Given the description of an element on the screen output the (x, y) to click on. 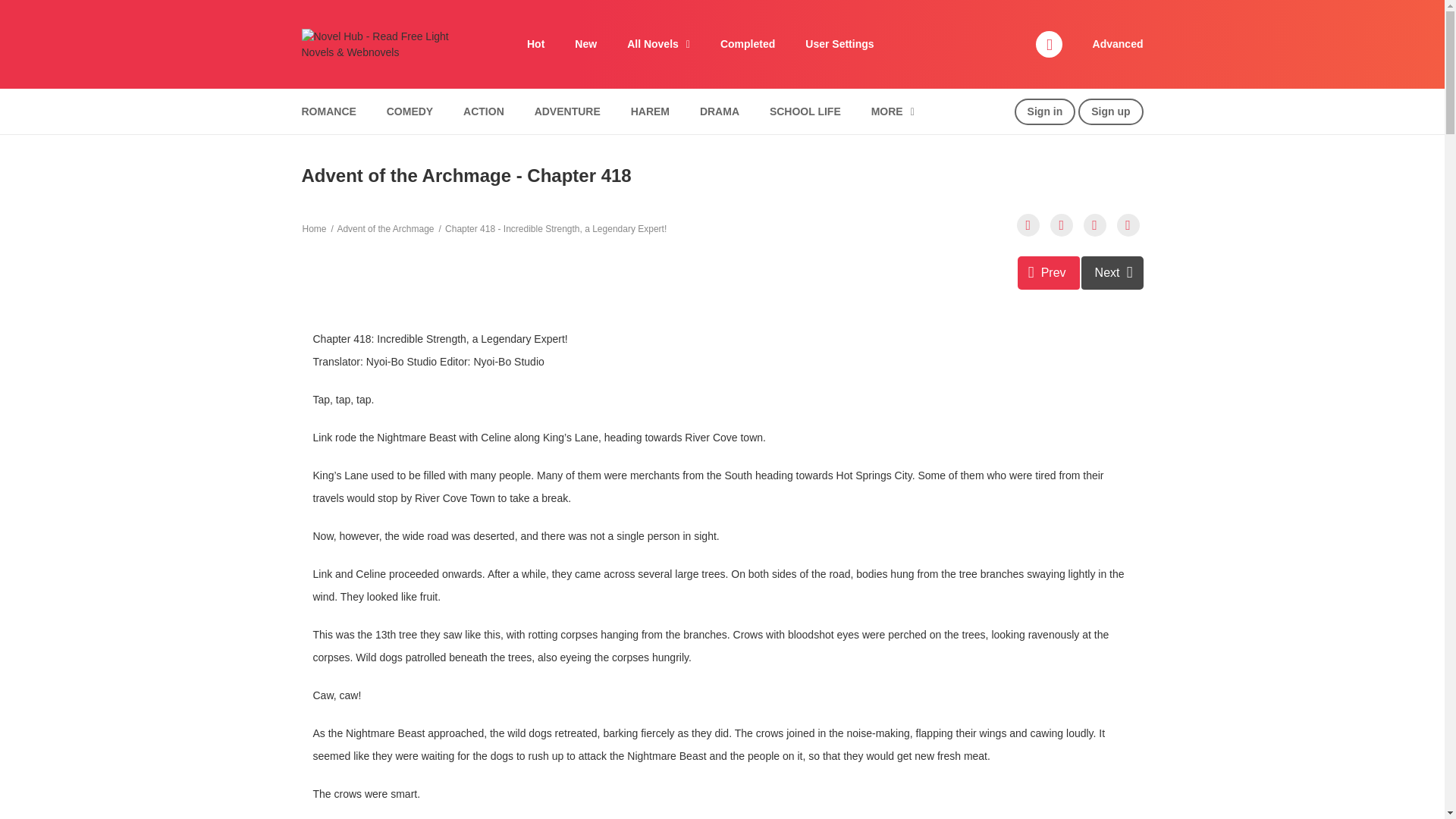
ROMANCE (328, 111)
Hot (535, 44)
ACTION (482, 111)
ADVENTURE (567, 111)
Search (970, 9)
HAREM (650, 111)
New (585, 44)
Bookmark (1094, 224)
Completed (747, 44)
User Settings (839, 44)
